Given the description of an element on the screen output the (x, y) to click on. 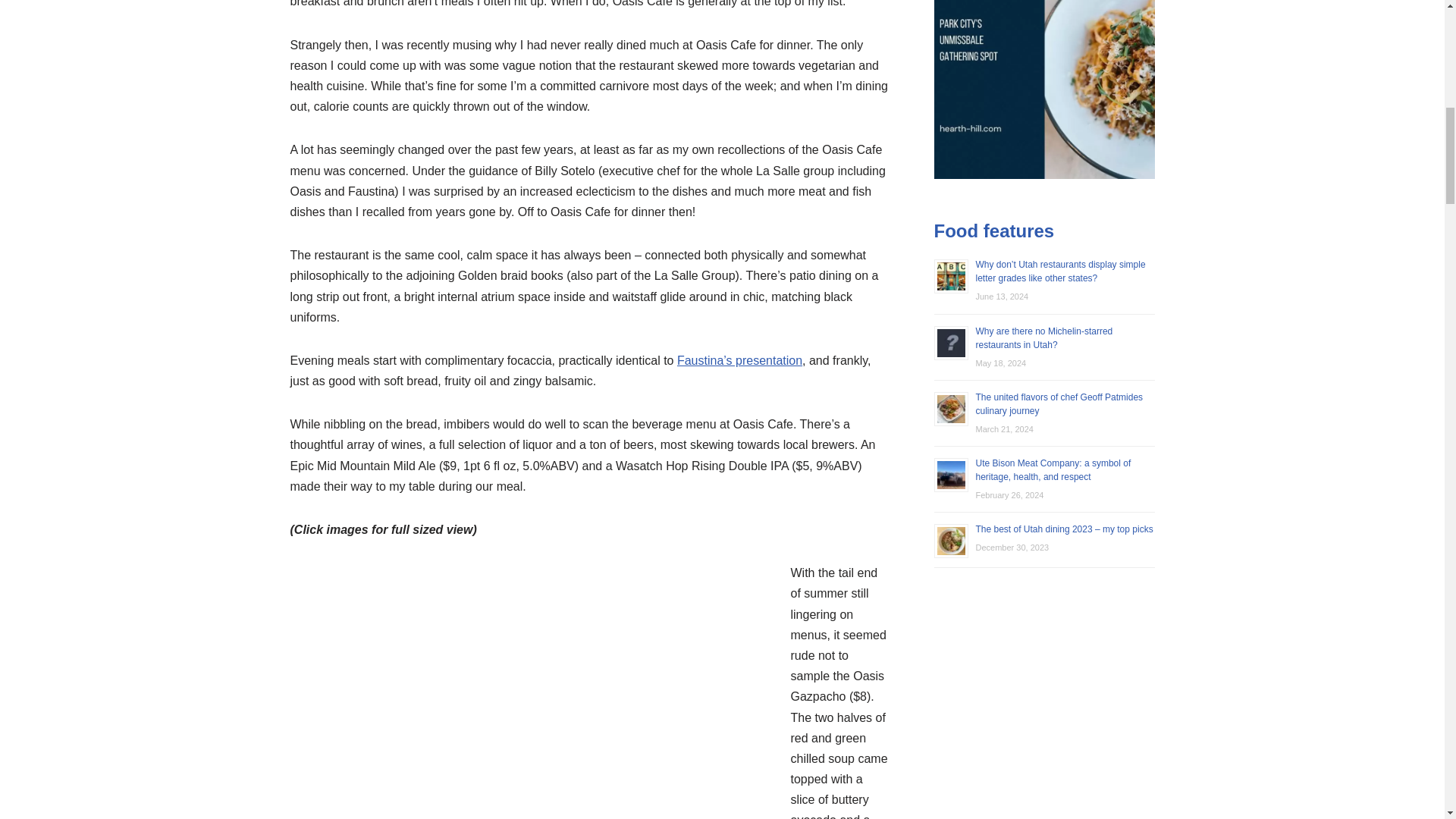
oasis bread (531, 698)
